Given the description of an element on the screen output the (x, y) to click on. 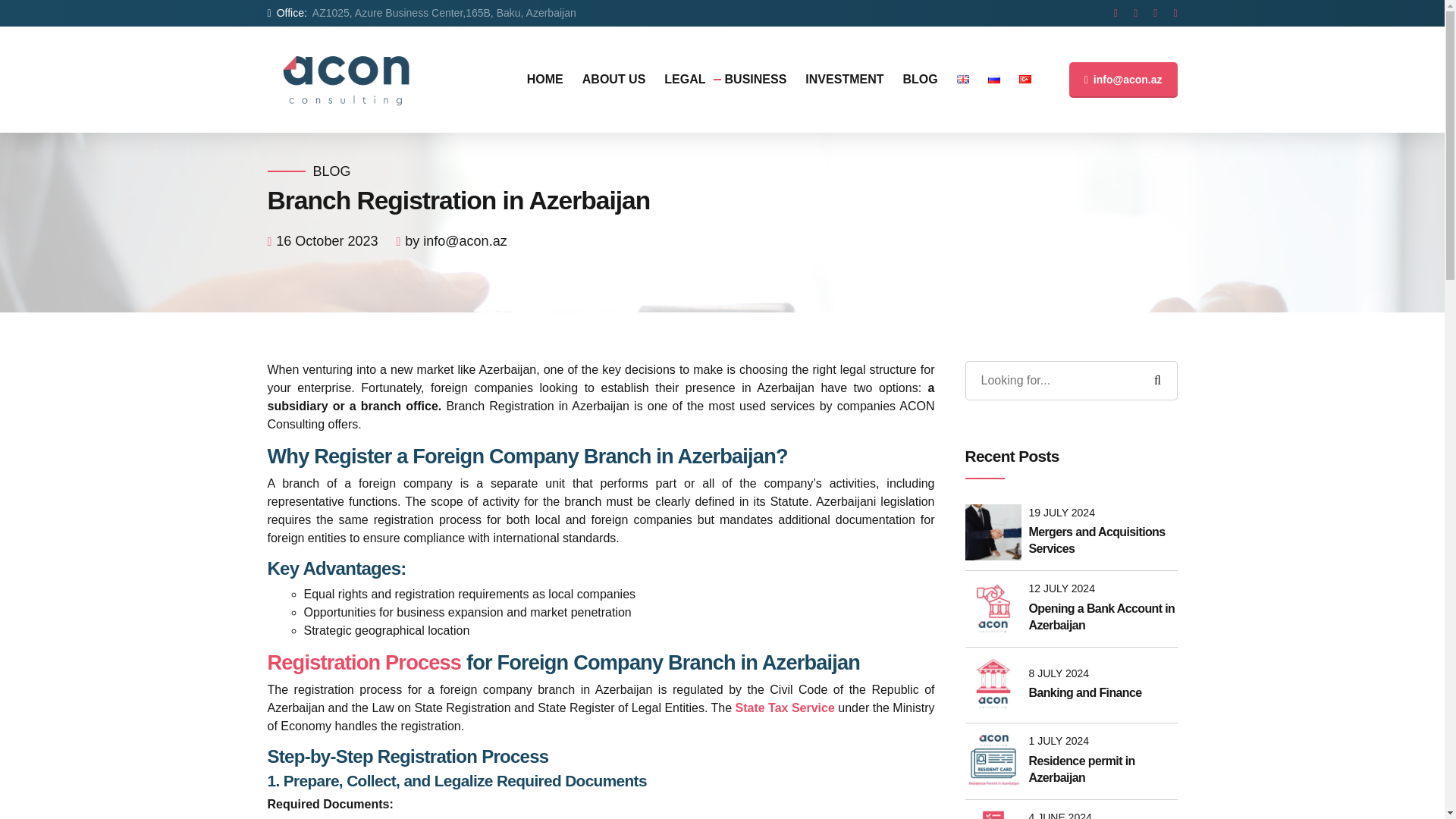
Registration Process (363, 662)
Residence permit in Azerbaijan (1101, 769)
Mergers and Acquisitions Services (1101, 540)
Banking and Finance (1101, 692)
Opening a Bank Account in Azerbaijan (1101, 617)
State Tax Service (784, 707)
BLOG (331, 171)
